Given the description of an element on the screen output the (x, y) to click on. 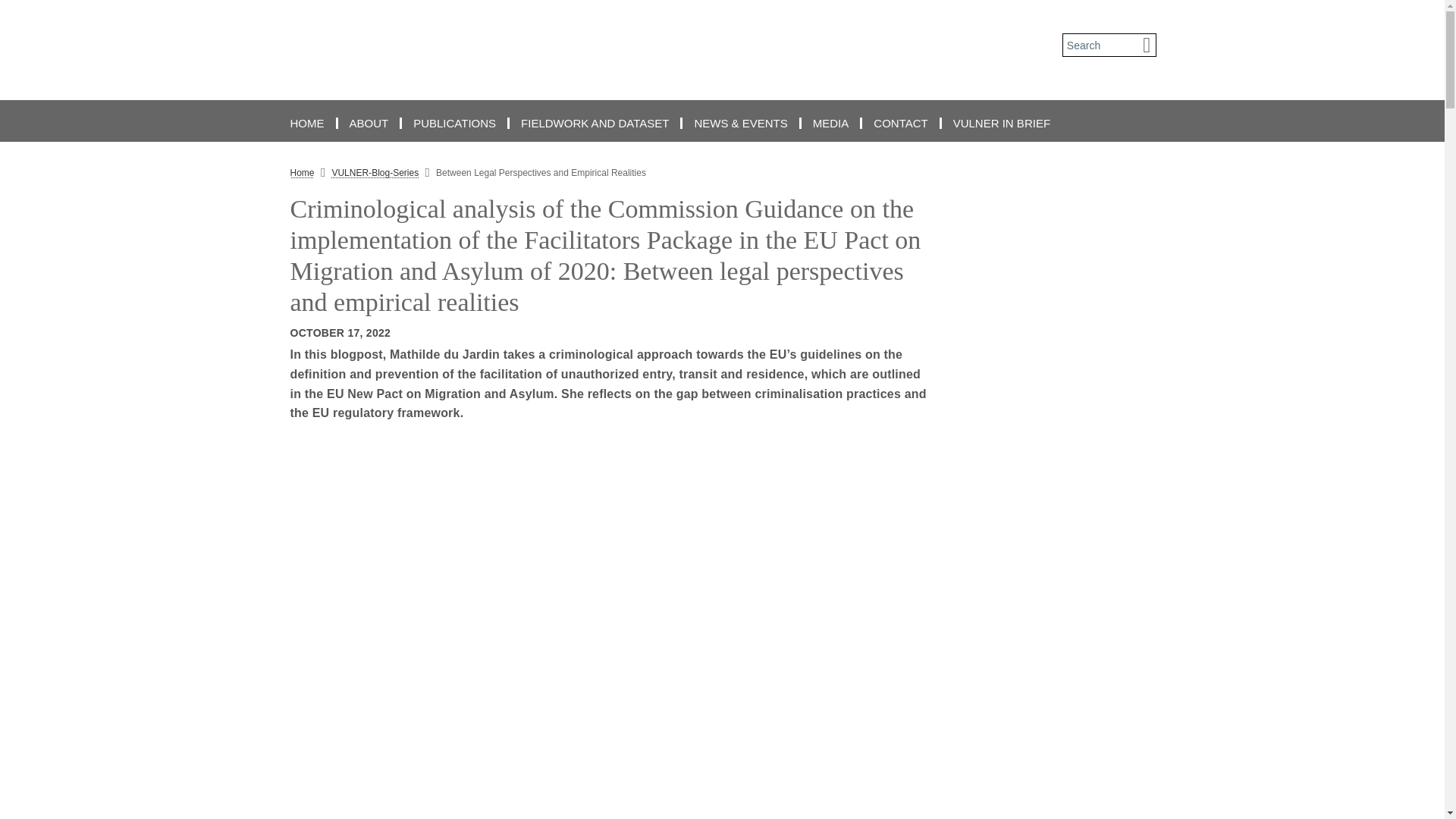
Reddit (258, 252)
Xing (258, 321)
PUBLICATIONS (455, 122)
ABOUT (370, 122)
LinkedIn (258, 219)
Home (301, 172)
VULNER-Blog-Series (375, 172)
FIELDWORK AND DATASET (595, 122)
Twitter (258, 287)
HOME (308, 122)
Facebook (258, 184)
MEDIA (832, 122)
CONTACT (900, 122)
VULNER IN BRIEF (1001, 122)
